Given the description of an element on the screen output the (x, y) to click on. 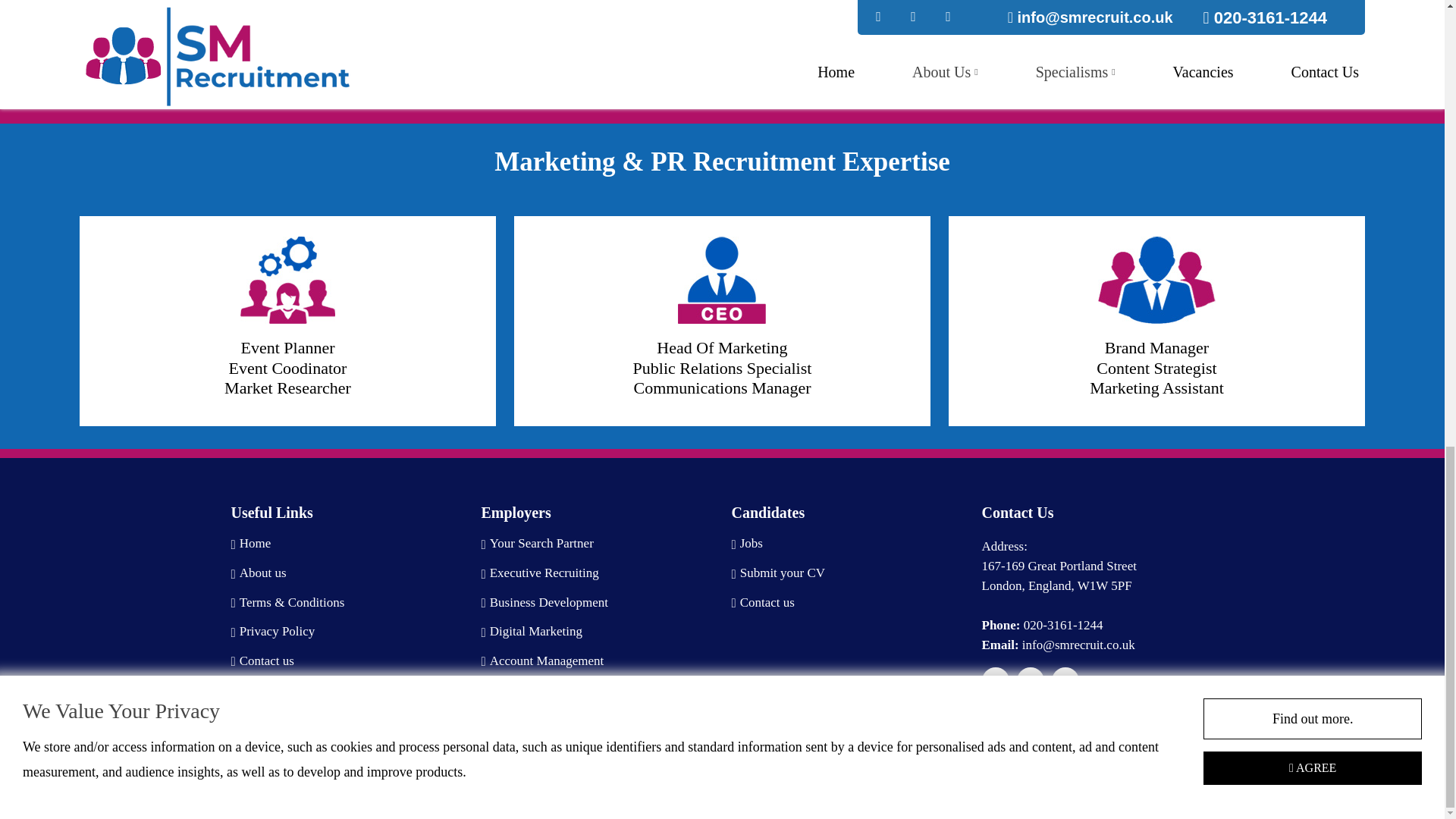
Account Management (542, 661)
020-3161-1244 (1063, 625)
Submit your CV (777, 573)
Web Design Company (1105, 776)
Home (250, 544)
Business Development (544, 603)
Executive Recruiting (539, 573)
Privacy Policy (272, 631)
Digital Marketing (531, 631)
Contact us (262, 661)
Jobs (745, 544)
About us (257, 573)
Contact us (761, 603)
Your Search Partner (536, 544)
